Given the description of an element on the screen output the (x, y) to click on. 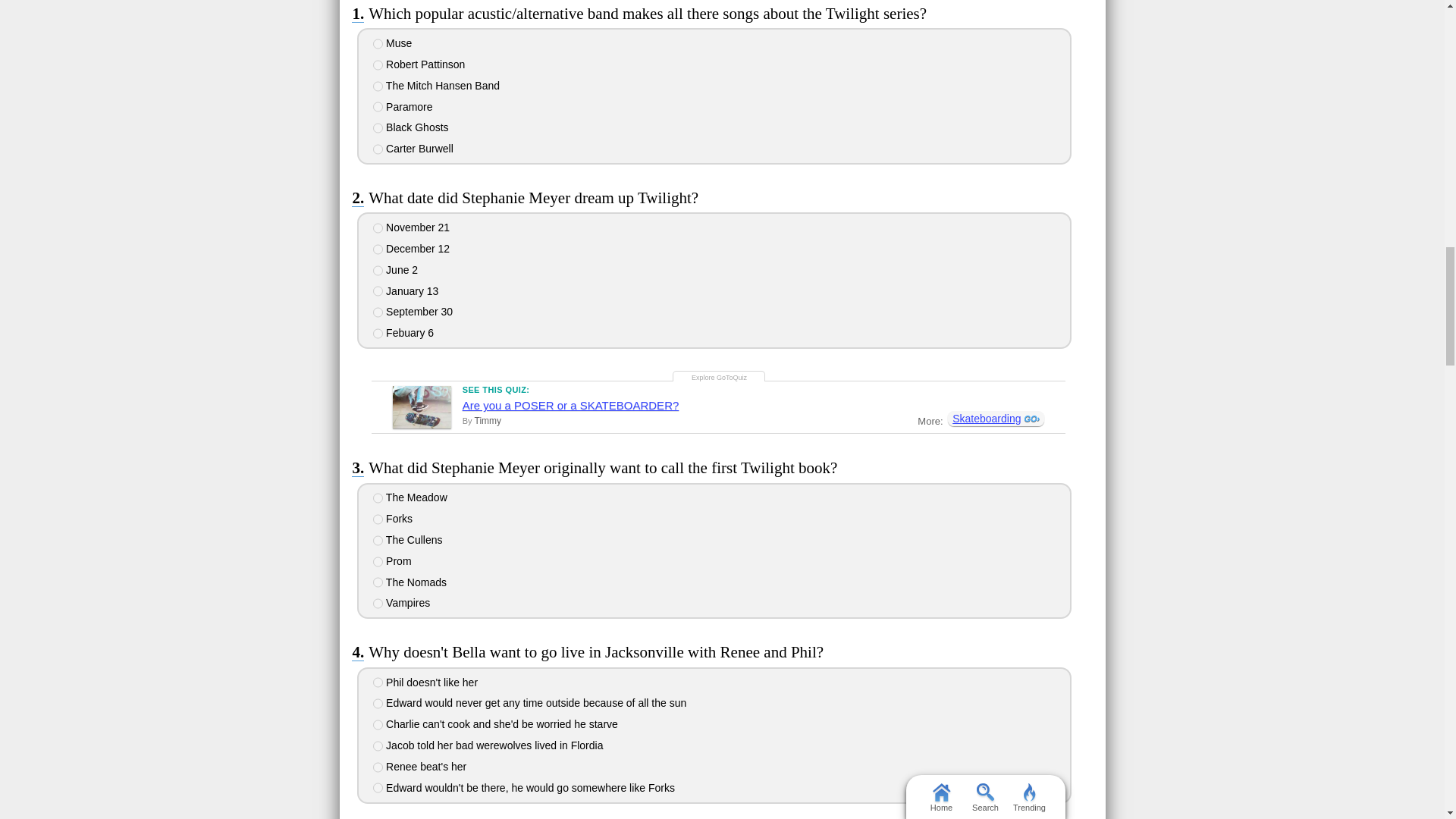
2 (377, 64)
4 (377, 561)
3 (377, 86)
1 (377, 43)
6 (377, 149)
1 (377, 227)
Skateboarding (995, 418)
6 (377, 603)
1 (377, 498)
5 (377, 127)
4 (377, 290)
6 (377, 333)
3 (377, 270)
2 (377, 519)
5 (377, 582)
